Given the description of an element on the screen output the (x, y) to click on. 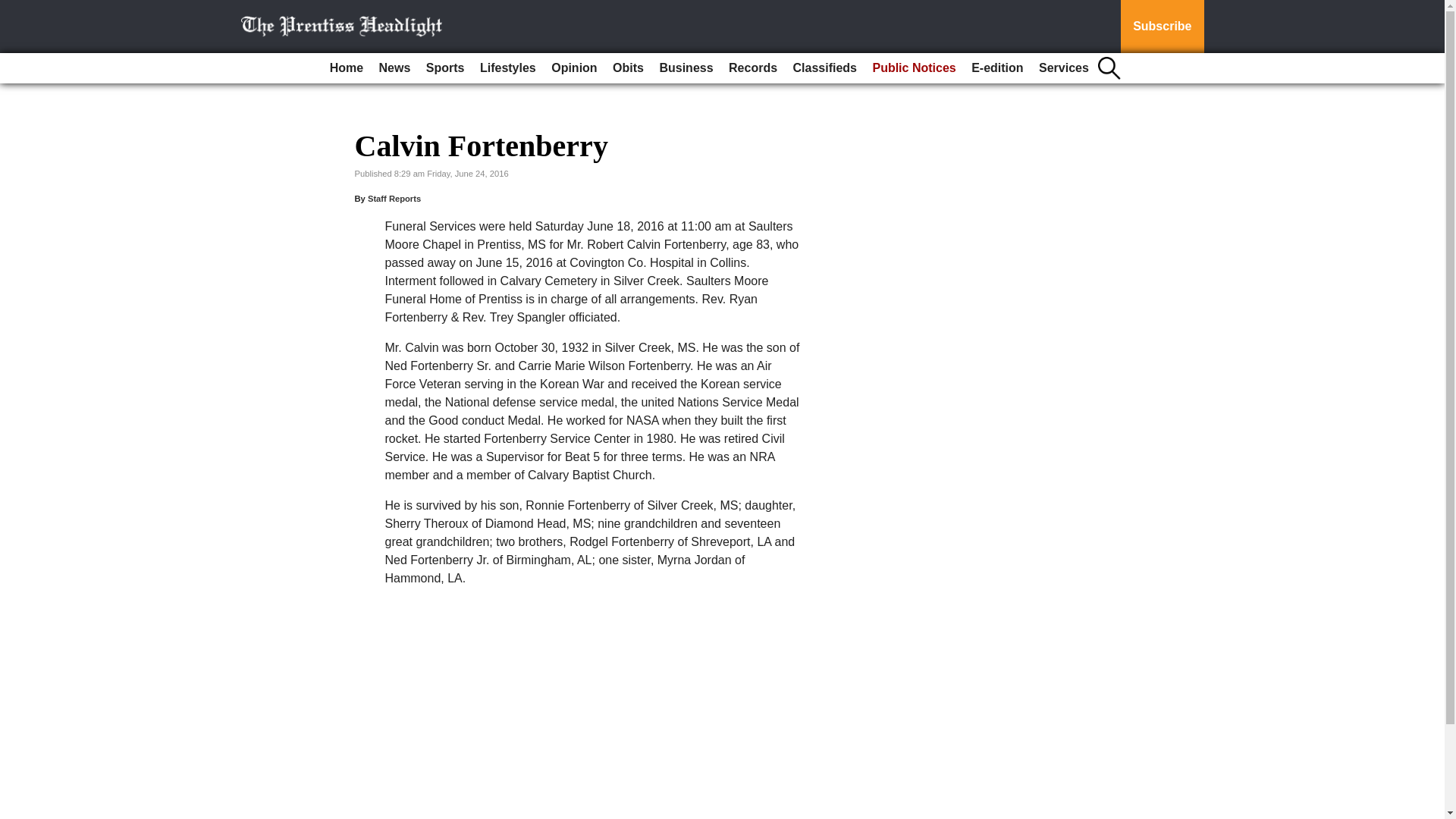
Lifestyles (507, 68)
Records (752, 68)
Obits (628, 68)
Opinion (573, 68)
E-edition (997, 68)
News (394, 68)
Services (1063, 68)
Go (13, 9)
Staff Reports (394, 198)
Sports (445, 68)
Home (346, 68)
Public Notices (913, 68)
Business (685, 68)
Classifieds (825, 68)
Subscribe (1162, 26)
